Given the description of an element on the screen output the (x, y) to click on. 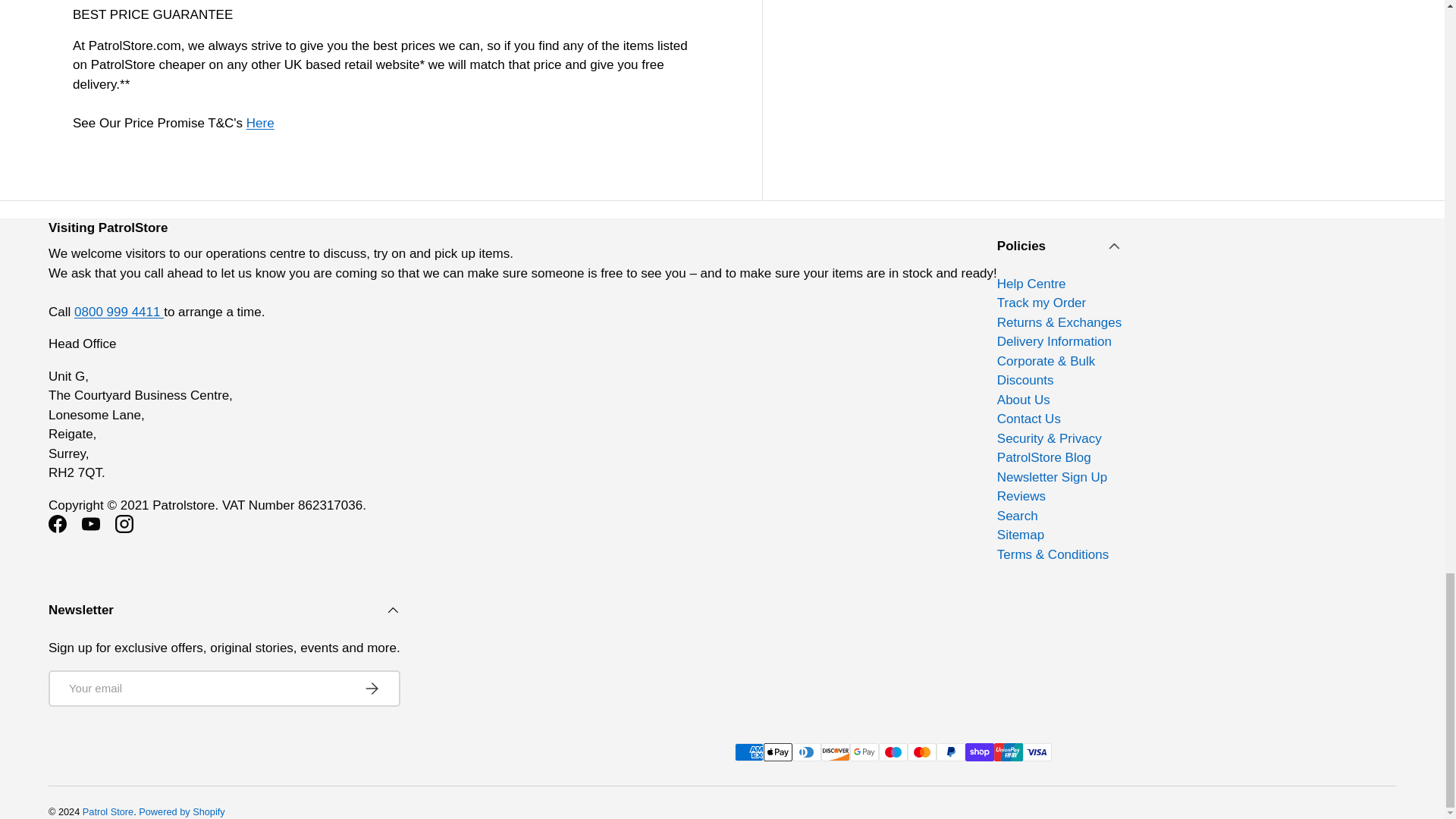
tel:08009994411 (118, 311)
Patrol Store on YouTube (90, 523)
Our Price Promise (260, 123)
Patrol Store on Facebook (57, 523)
Patrol Store on Instagram (124, 523)
